Given the description of an element on the screen output the (x, y) to click on. 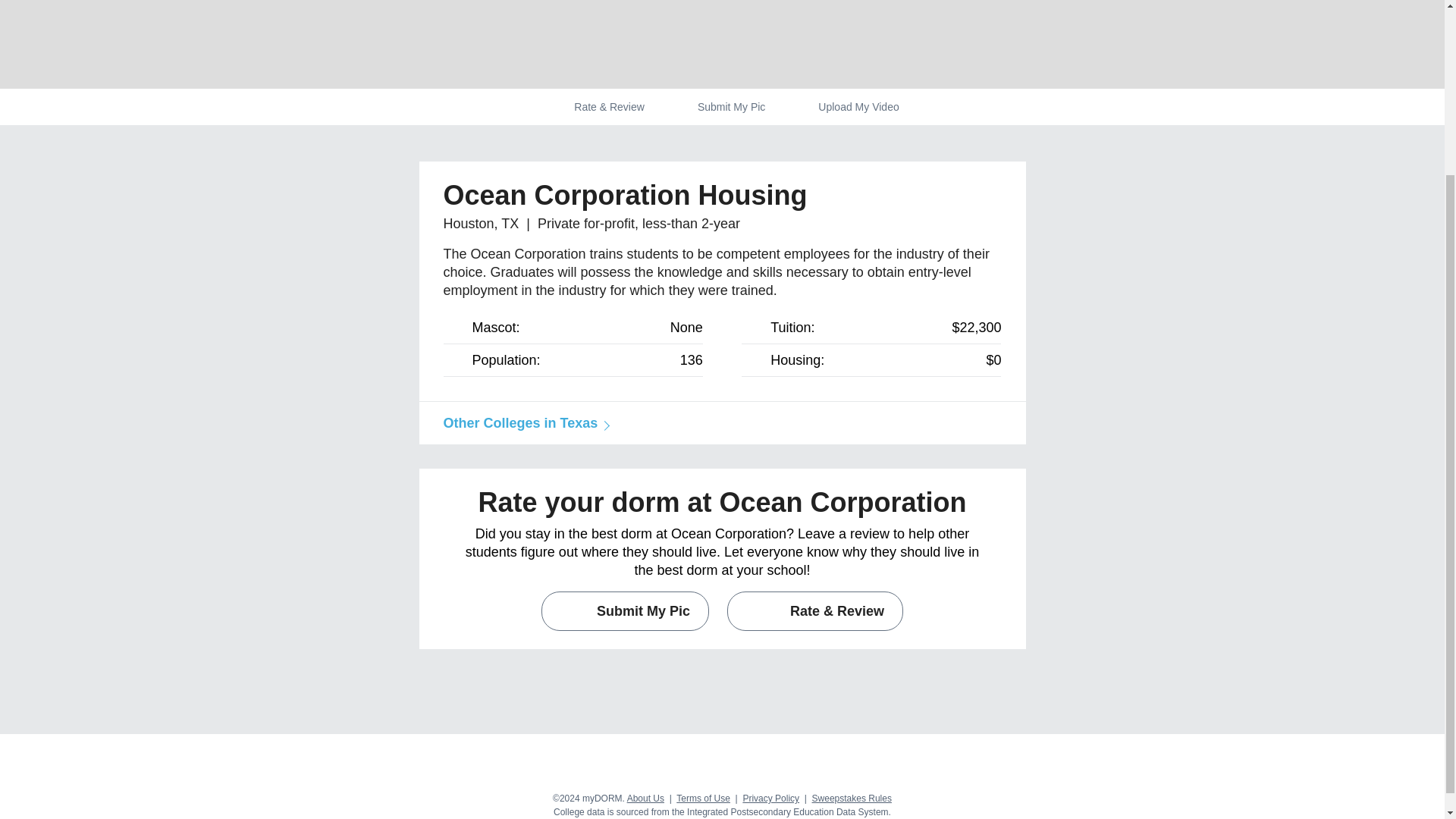
Upload My Video (858, 106)
Sweepstakes Rules (851, 798)
Submit My Pic (625, 610)
About Us (645, 798)
Privacy Policy (770, 798)
Other Colleges in Texas (523, 422)
Submit My Pic (731, 106)
Terms of Use (703, 798)
